Given the description of an element on the screen output the (x, y) to click on. 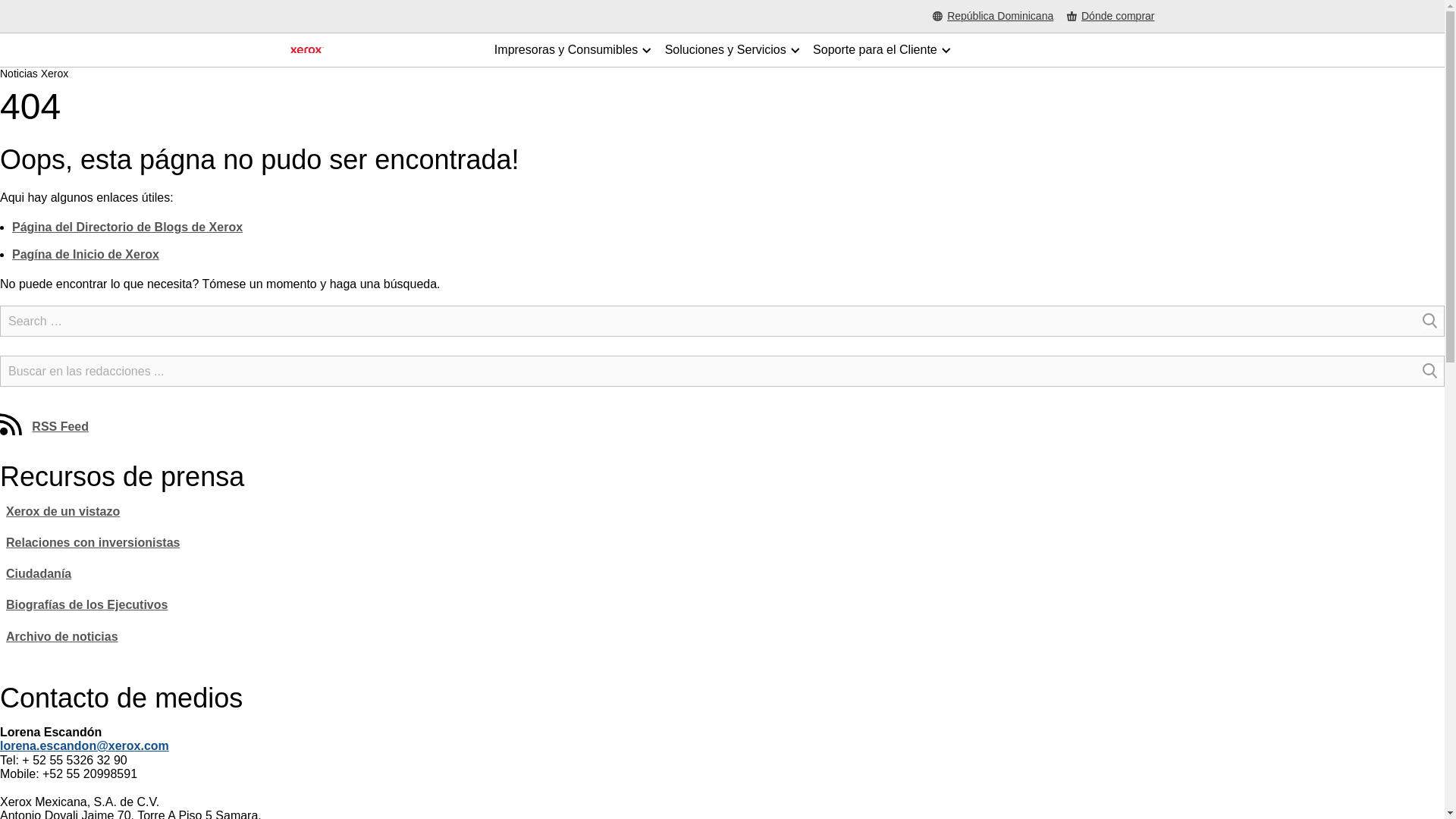
Search (1432, 320)
Search (1432, 320)
